Given the description of an element on the screen output the (x, y) to click on. 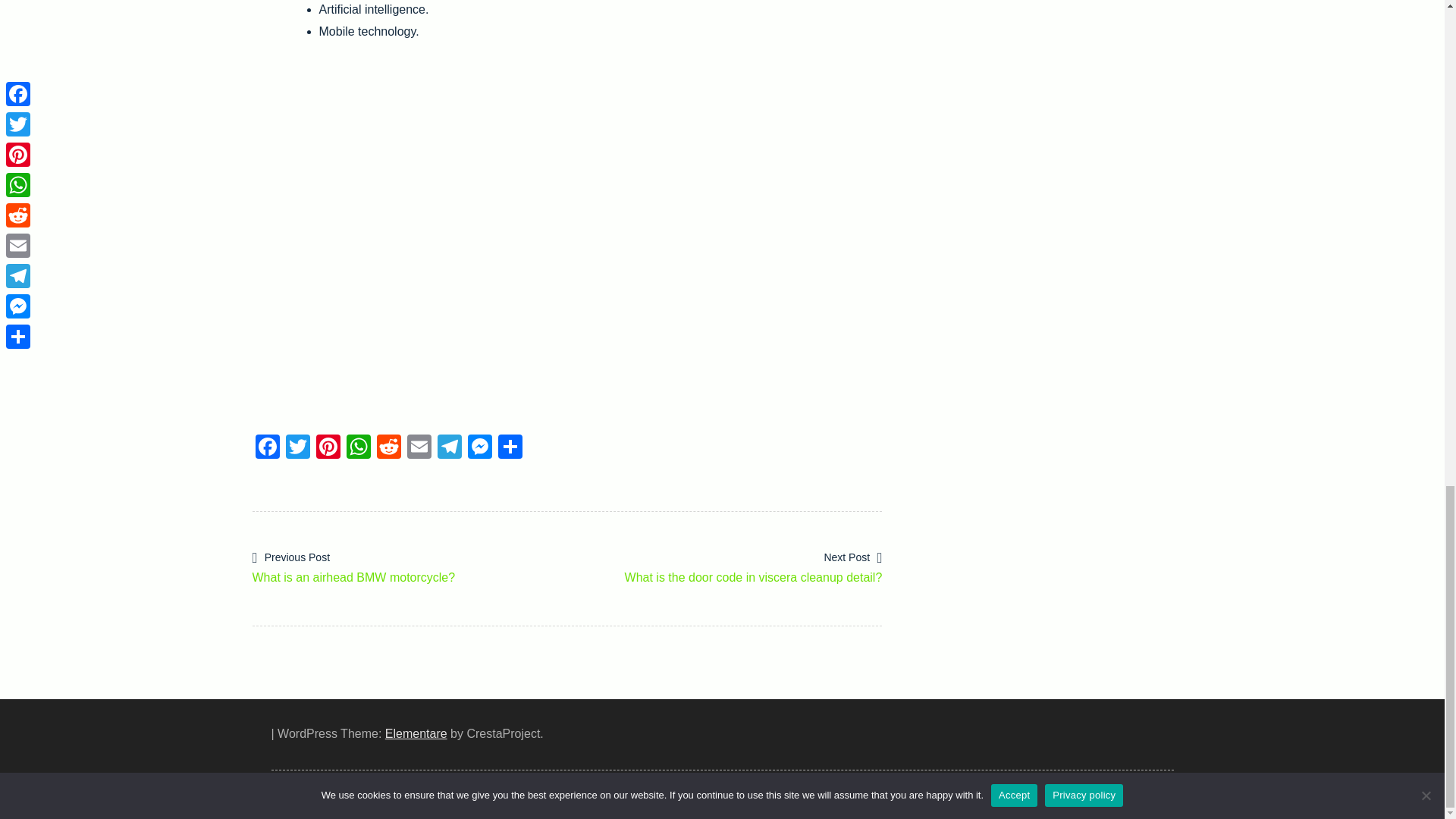
Pinterest (327, 448)
Elementare Theme (415, 733)
Reddit (387, 448)
Facebook (266, 448)
WhatsApp (357, 448)
Twitter (297, 448)
Telegram (448, 448)
Pinterest (327, 448)
WhatsApp (357, 448)
Email (418, 448)
Email (418, 448)
Share (509, 448)
Twitter (297, 448)
